Given the description of an element on the screen output the (x, y) to click on. 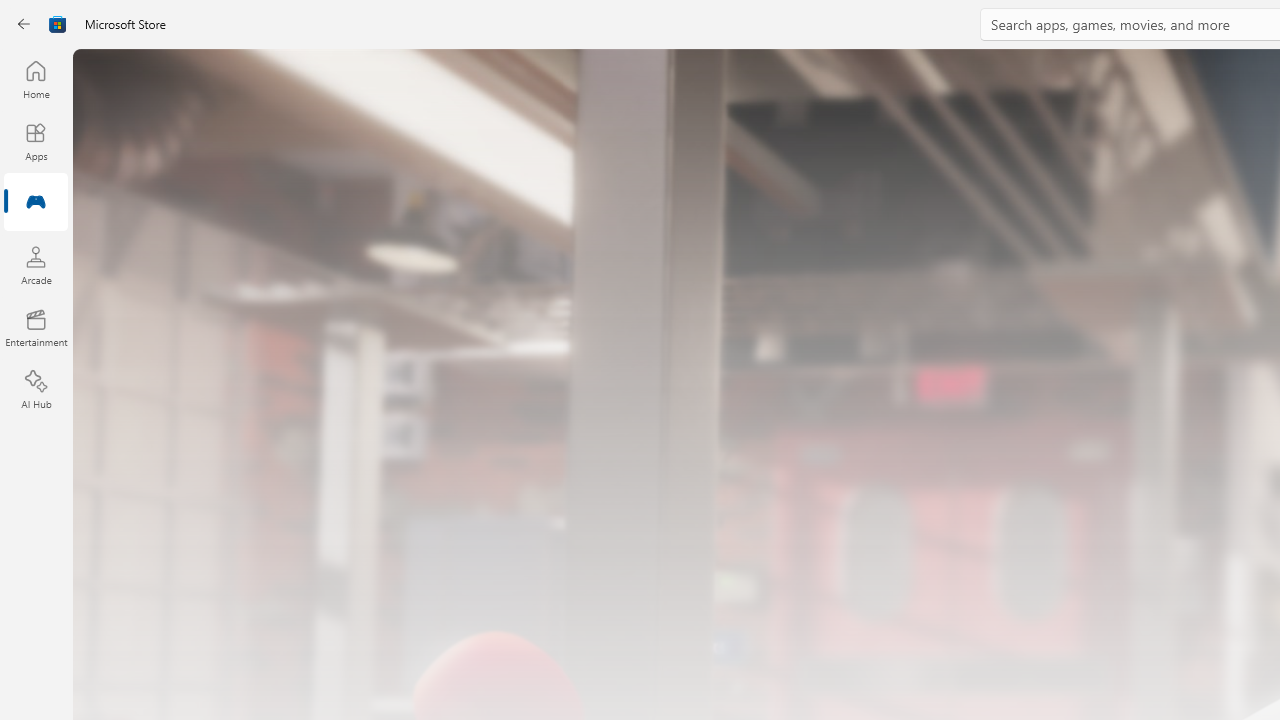
Gaming (35, 203)
Back (24, 24)
AI Hub (35, 390)
Entertainment (35, 327)
Home (35, 79)
Class: Image (58, 24)
Arcade (35, 265)
